Given the description of an element on the screen output the (x, y) to click on. 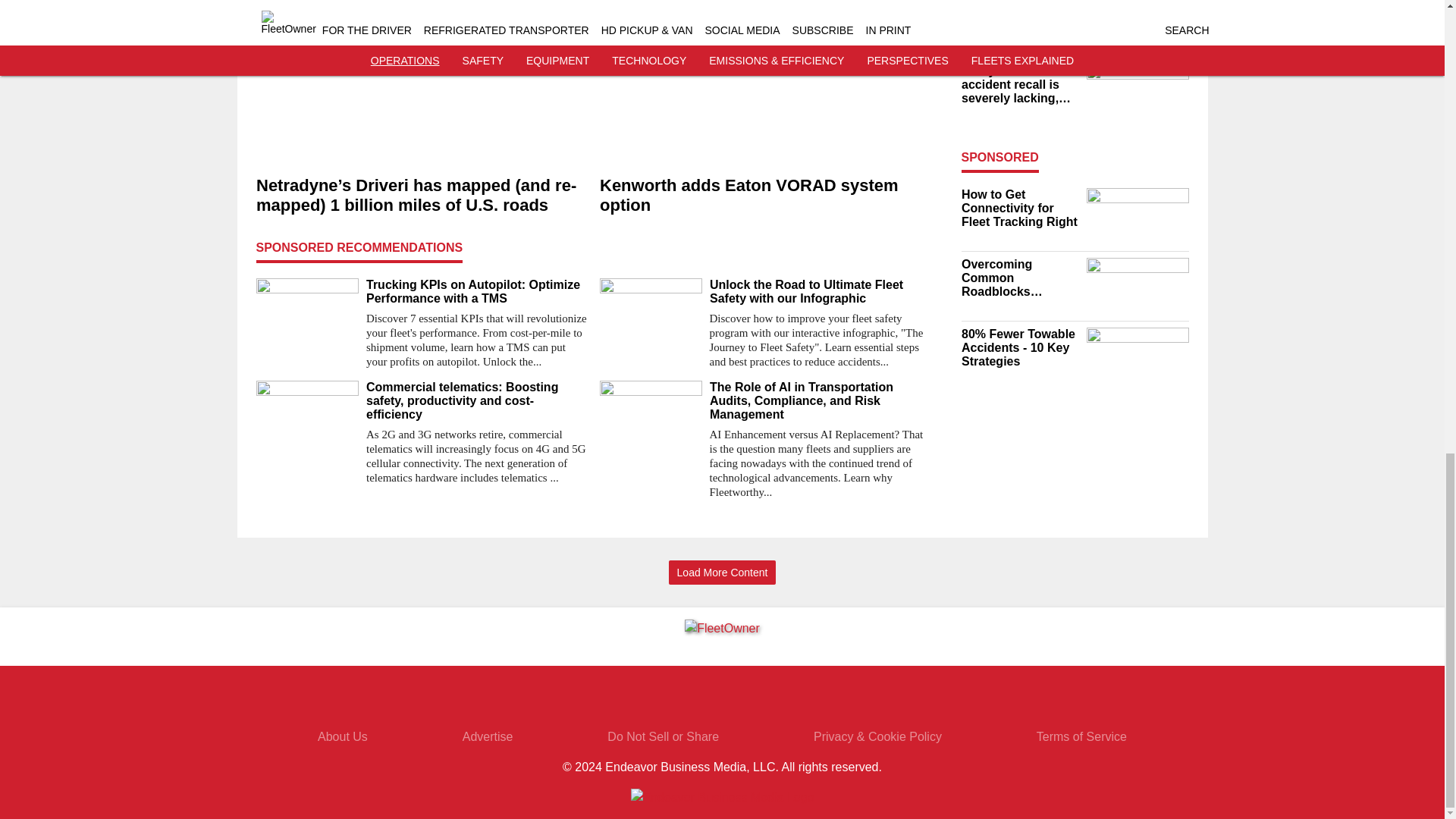
Trucking KPIs on Autopilot: Optimize Performance with a TMS (476, 291)
Kenworth adds Eaton VORAD system option (764, 195)
